Given the description of an element on the screen output the (x, y) to click on. 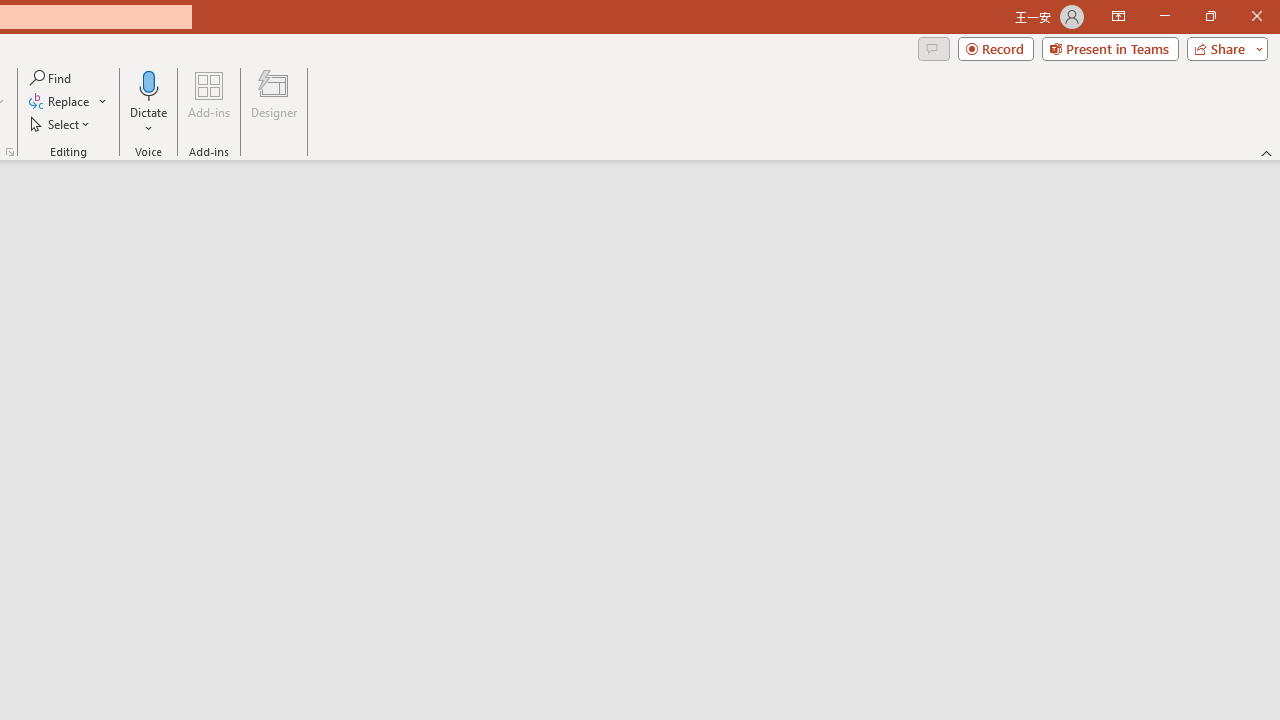
Designer (274, 102)
Collapse the Ribbon (1267, 152)
Format Object... (9, 151)
Comments (933, 48)
Dictate (149, 84)
Dictate (149, 102)
Minimize (1164, 16)
Record (995, 48)
Ribbon Display Options (1118, 16)
Restore Down (1210, 16)
More Options (149, 121)
Replace... (60, 101)
Replace... (68, 101)
